Given the description of an element on the screen output the (x, y) to click on. 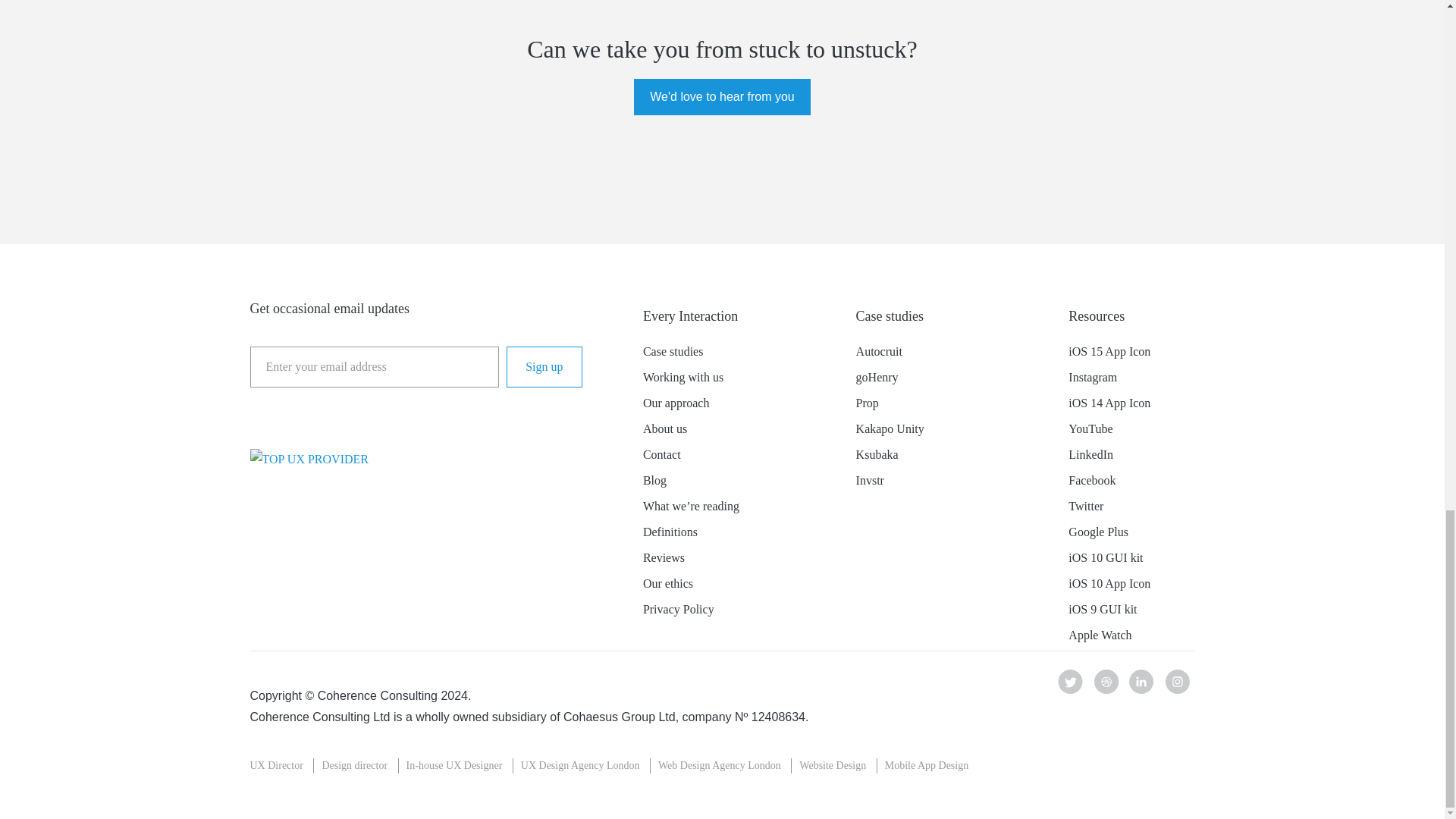
We'd love to hear from you (721, 96)
Sign up (544, 366)
